Given the description of an element on the screen output the (x, y) to click on. 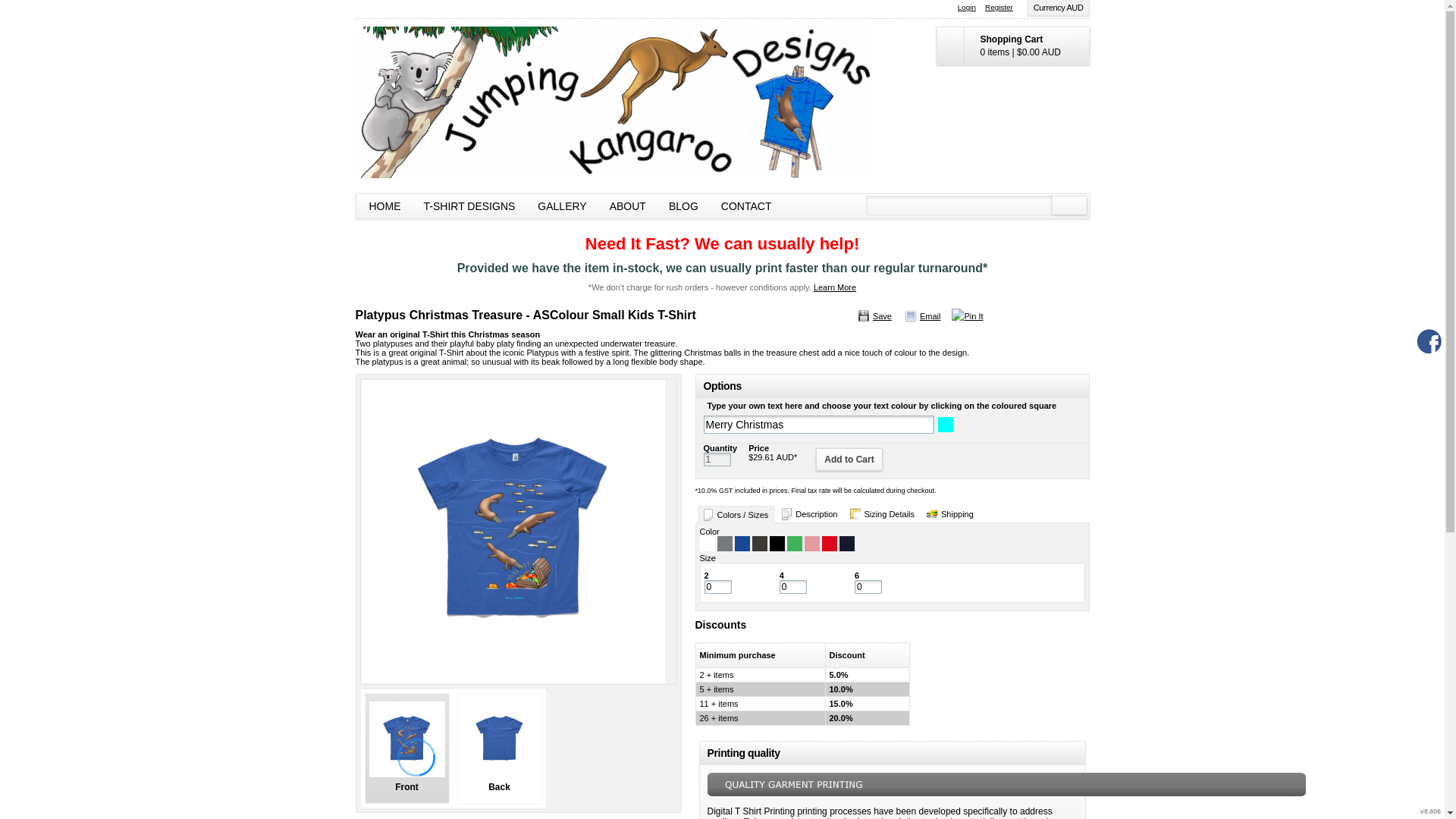
Shopping Cart
0 items | $0.00 AUD Element type: text (1011, 45)
Sizing Details Element type: text (882, 513)
Colors / Sizes Element type: text (735, 514)
HOME Element type: text (384, 205)
Kelly Green Element type: hover (794, 543)
Currency AUD Element type: text (1058, 7)
Black Element type: hover (776, 543)
Description Element type: text (809, 513)
Pin It Element type: hover (966, 315)
Navy Element type: hover (845, 543)
GALLERY Element type: text (561, 205)
Register Element type: text (998, 7)
Shipping Element type: text (950, 513)
Learn More Element type: text (834, 286)
Save Element type: text (873, 315)
Grey Marle Element type: hover (724, 543)
T-SHIRT DESIGNS Element type: text (469, 205)
Add to Cart Element type: text (848, 459)
Back Element type: text (498, 748)
CONTACT Element type: text (746, 205)
Front Element type: text (406, 748)
BLOG Element type: text (683, 205)
White Element type: hover (706, 543)
Charcoal Element type: hover (759, 543)
Email Element type: text (922, 315)
Pink Element type: hover (811, 543)
ABOUT Element type: text (627, 205)
Red Element type: hover (829, 543)
Bright Royal Element type: hover (741, 543)
search Element type: text (1068, 205)
Login Element type: text (966, 7)
